Given the description of an element on the screen output the (x, y) to click on. 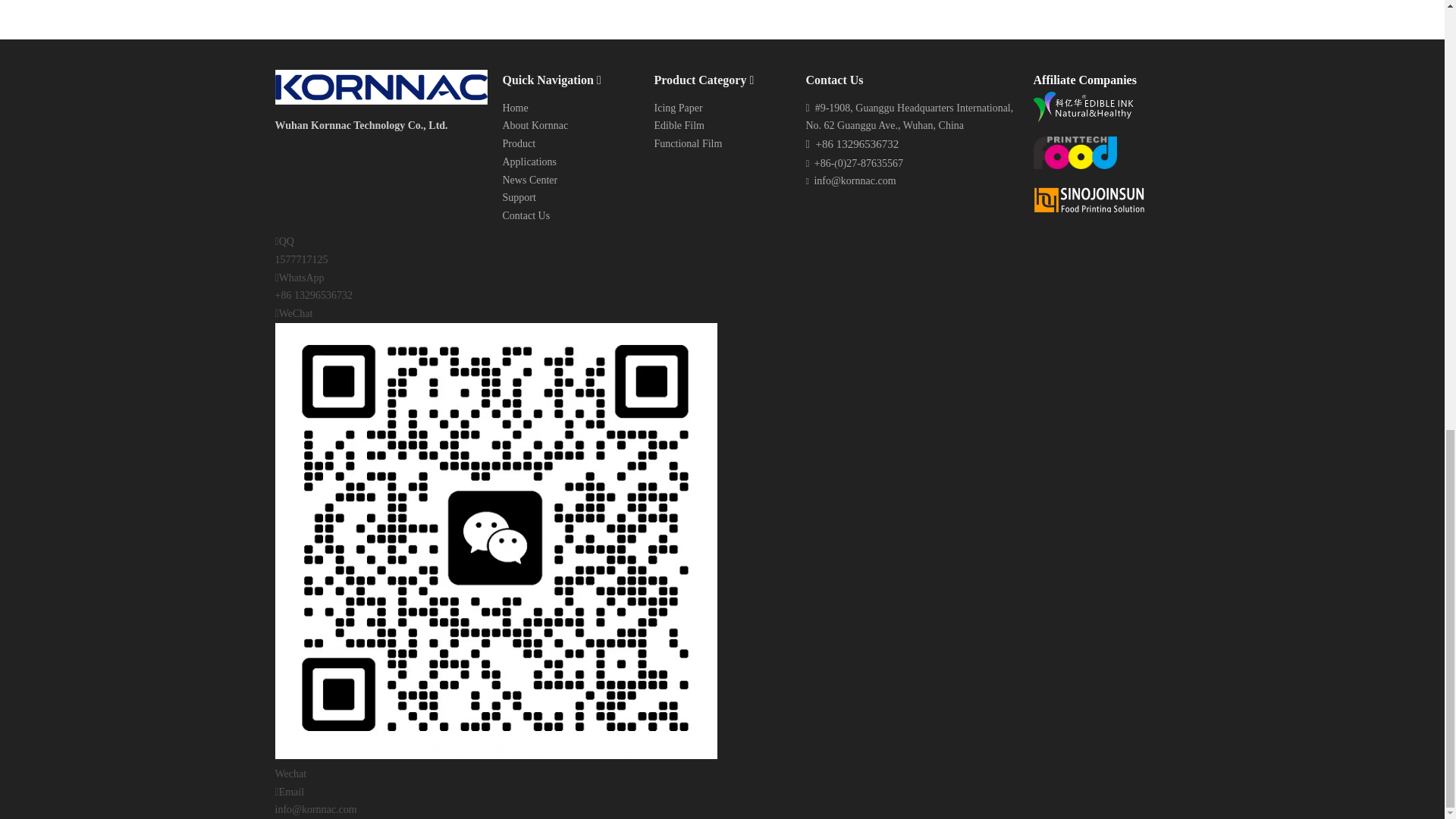
Home (514, 107)
About Kornnac (534, 125)
kornnac (380, 86)
